Given the description of an element on the screen output the (x, y) to click on. 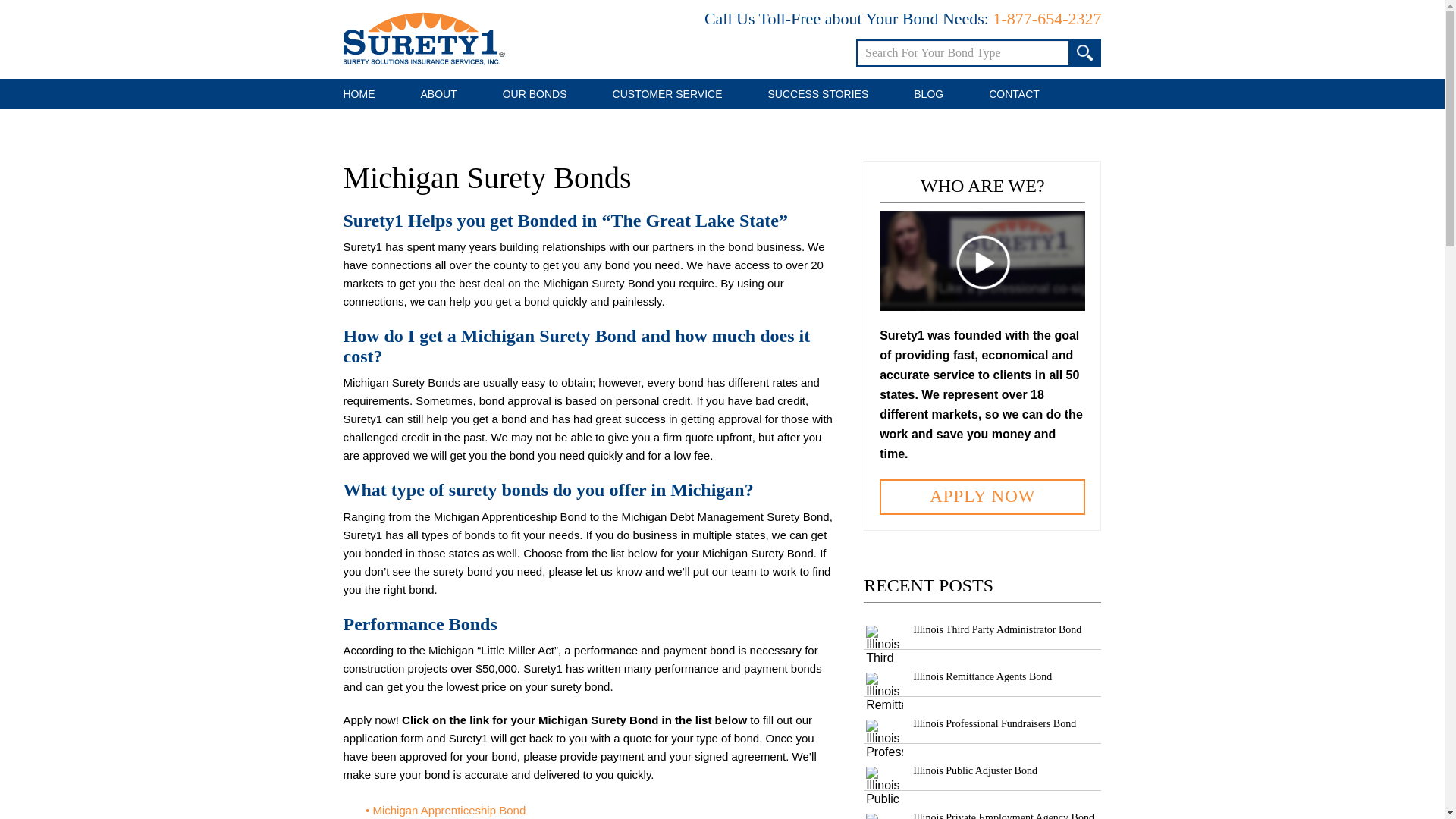
BLOG (928, 93)
OUR BONDS (534, 93)
Michigan Apprenticeship Bond (448, 809)
Permalink to Michigan Apprenticeship Bond (448, 809)
HOME (358, 93)
SUCCESS STORIES (817, 93)
CUSTOMER SERVICE (667, 93)
1-877-654-2327 (1047, 18)
CONTACT (1014, 93)
ABOUT (437, 93)
